Given the description of an element on the screen output the (x, y) to click on. 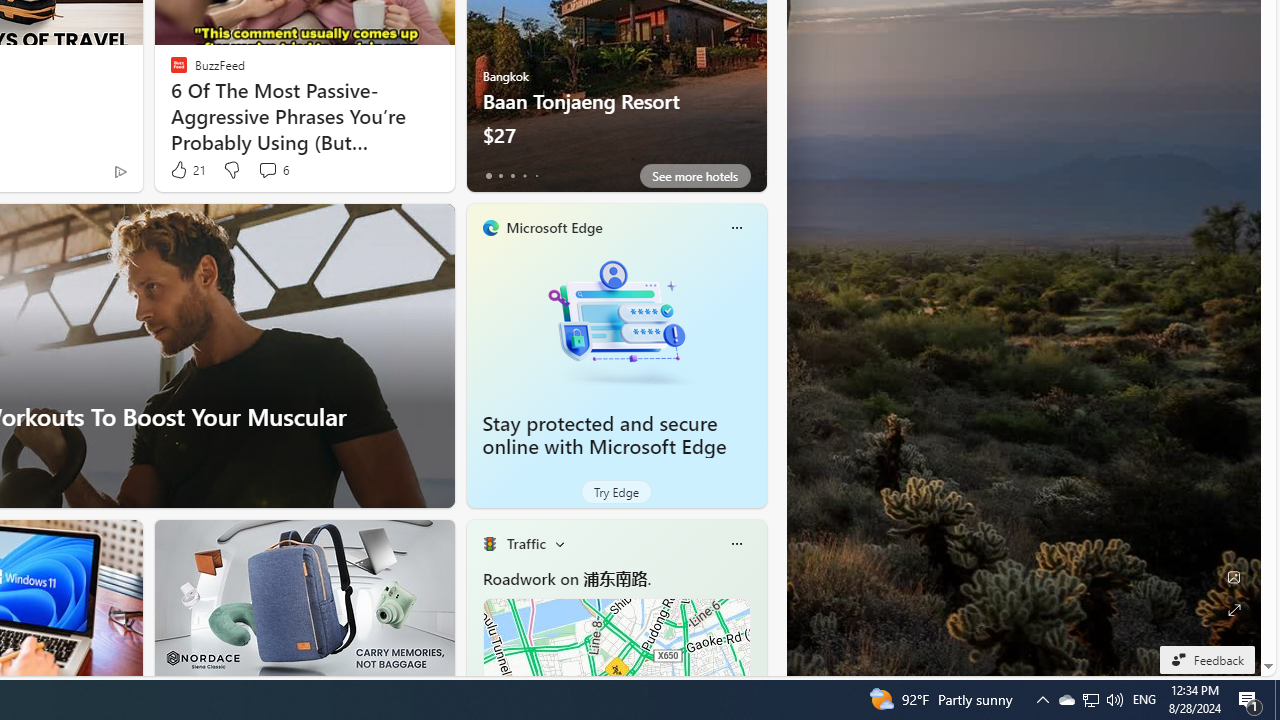
Traffic Title Traffic Light (489, 543)
Try Edge (616, 491)
View comments 6 Comment (267, 169)
View comments 6 Comment (272, 170)
tab-2 (511, 175)
Dislike (230, 170)
21 Like (186, 170)
Stay protected and secure online with Microsoft Edge (604, 435)
Stay protected and secure online with Microsoft Edge (616, 321)
tab-3 (524, 175)
Microsoft Edge (553, 227)
Class: icon-img (736, 543)
Expand background (1233, 610)
tab-4 (535, 175)
See more hotels (694, 175)
